Given the description of an element on the screen output the (x, y) to click on. 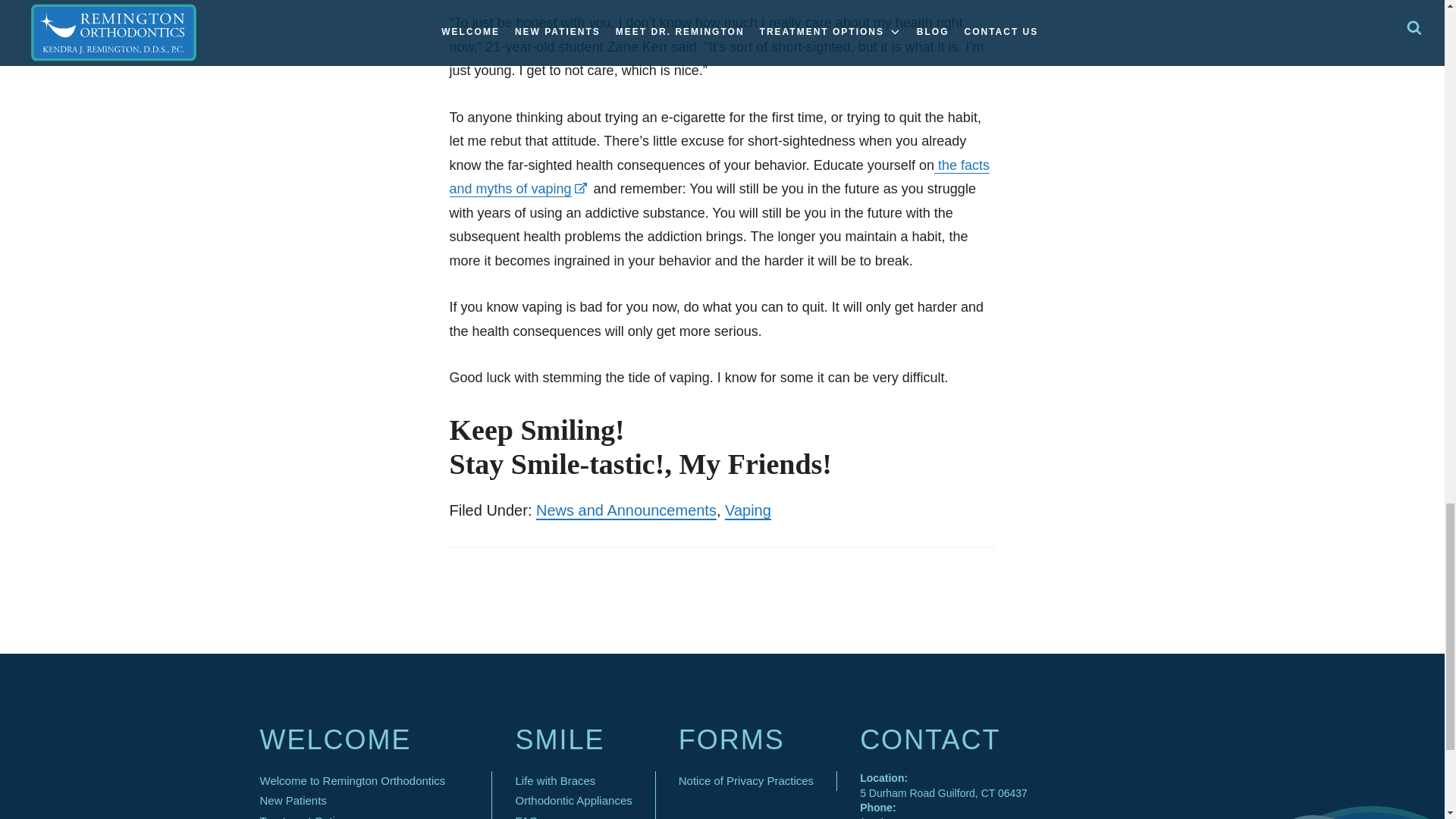
FAQs (529, 816)
Notice of Privacy Practices (745, 780)
 the facts and myths of vaping (718, 178)
Treatment Options (306, 816)
Life with Braces (555, 780)
Orthodontic Appliances (573, 800)
News and Announcements (625, 511)
New Patients (292, 800)
Welcome to Remington Orthodontics (352, 780)
Vaping (748, 511)
